Given the description of an element on the screen output the (x, y) to click on. 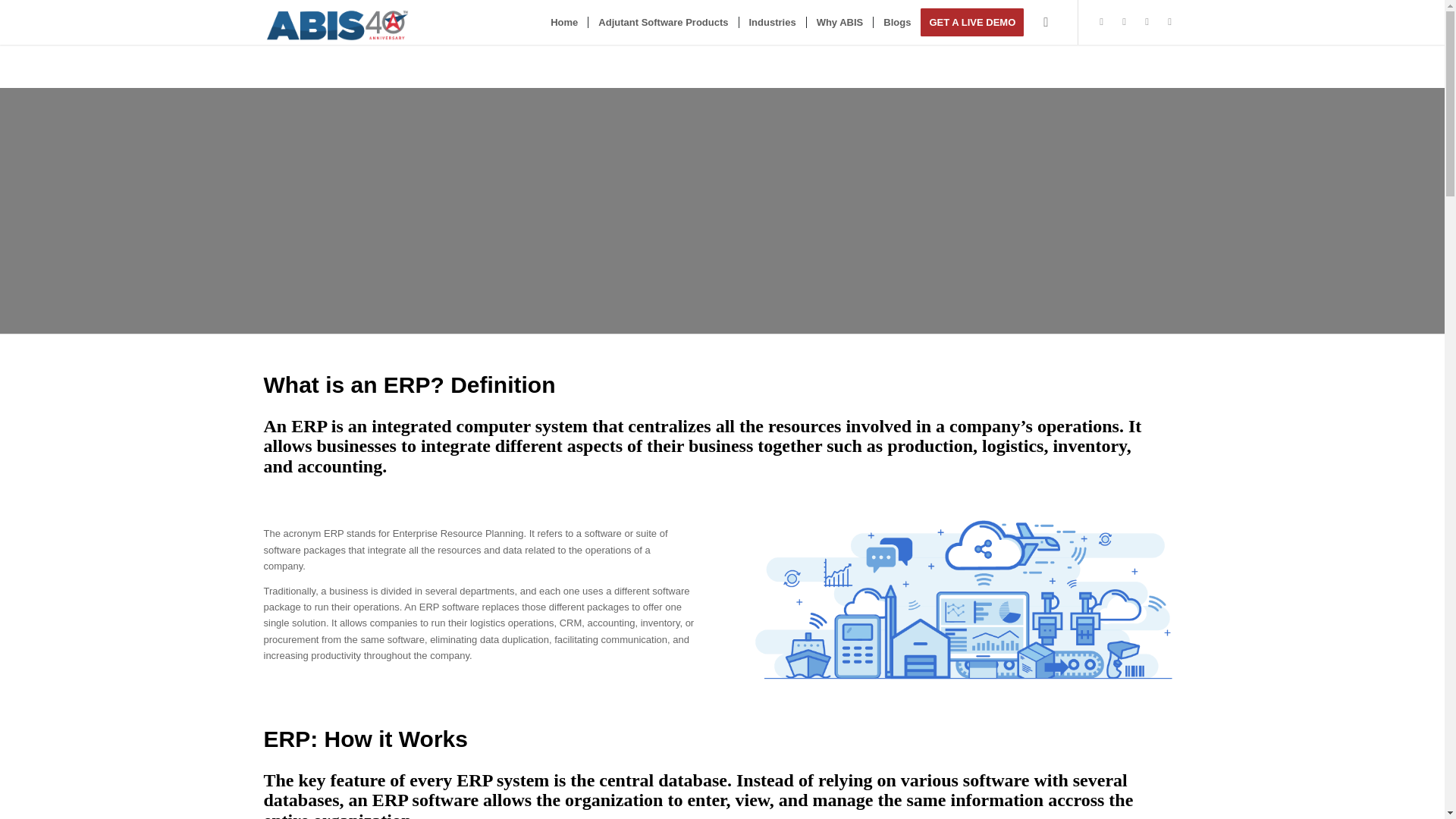
Facebook (1146, 21)
LinkedIn (1124, 21)
Adjutant Software Products (663, 22)
New Technology-01 (964, 602)
Youtube (1169, 21)
Home (564, 22)
Twitter (1101, 21)
